Given the description of an element on the screen output the (x, y) to click on. 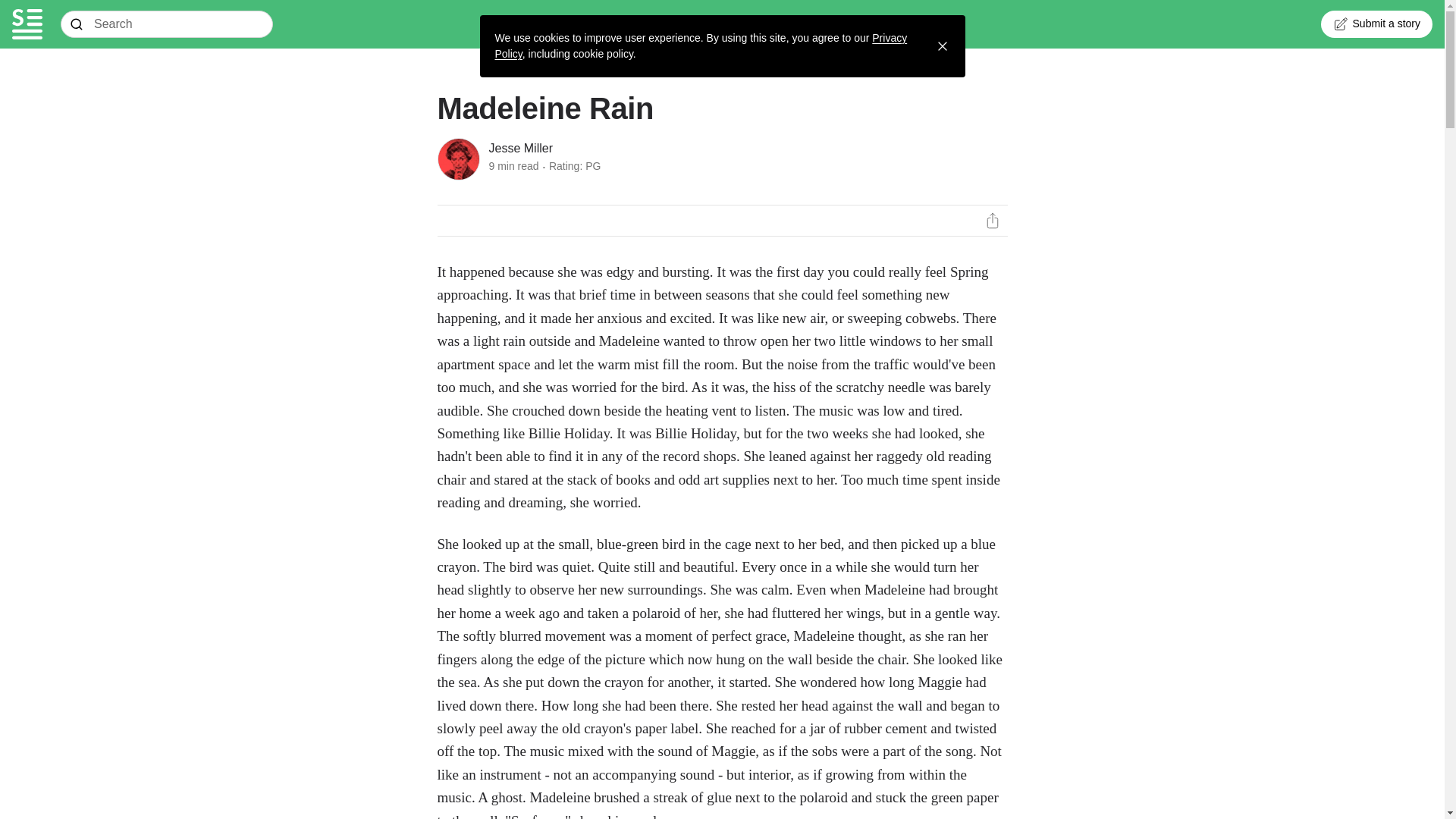
Jesse Miller (519, 148)
Submit (77, 23)
9 min read (512, 165)
Submit a story (1376, 23)
Short Stories (26, 24)
